Given the description of an element on the screen output the (x, y) to click on. 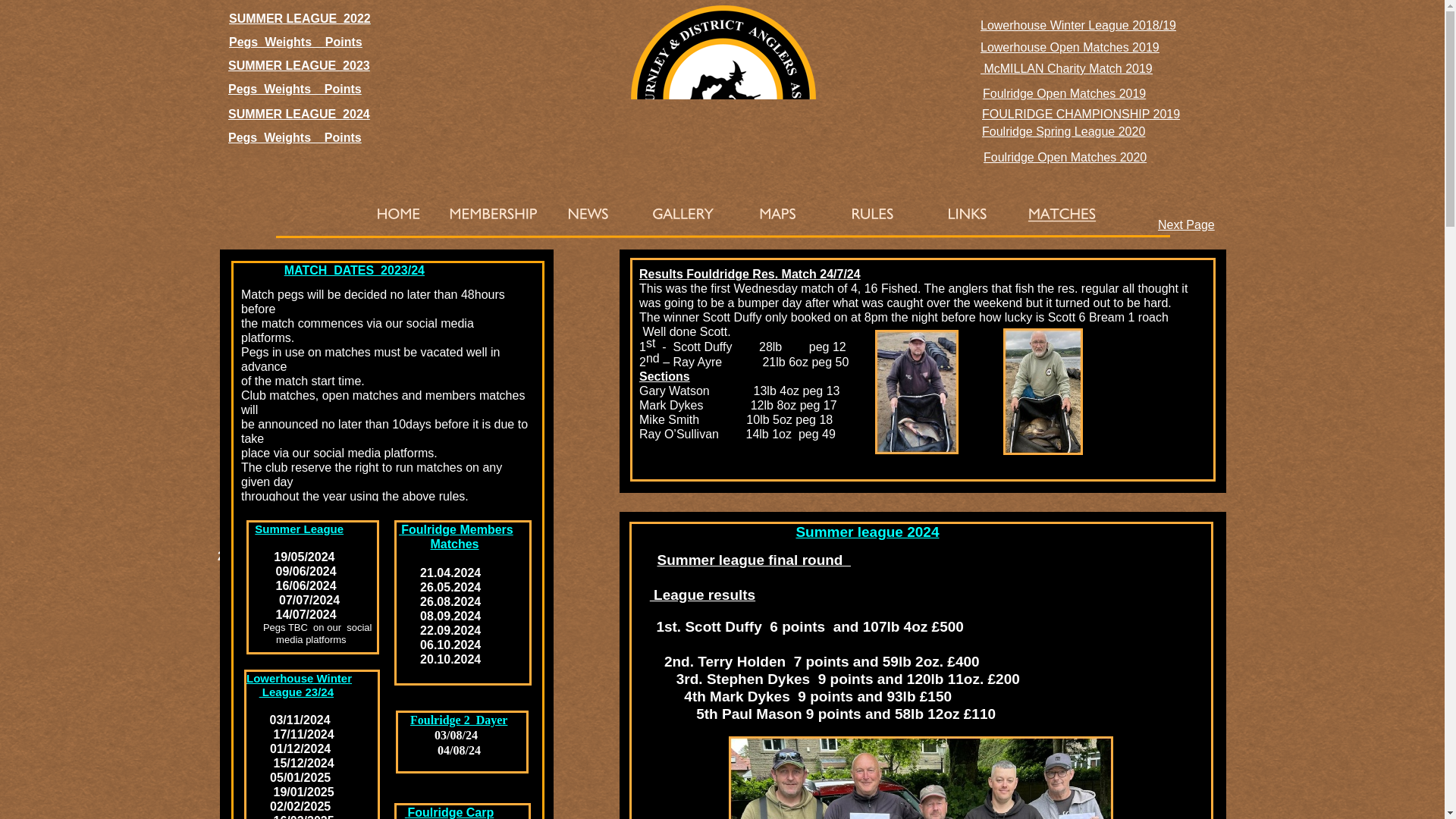
Pegs  Weights    Points (294, 88)
2019 (1139, 68)
Pegs  Weights    Points (294, 137)
Foulridge Open Matches 2020 (1065, 156)
FOULRIDGE CHAMPIONSHIP 2019 (1080, 113)
19 (1168, 24)
Lowerhouse Open Matches 2019 (1068, 47)
SUMMER LEAGUE  2024 (298, 113)
Foulridge Open Matches 2019 (1063, 92)
Foulridge Spring League 2020 (1062, 131)
